Given the description of an element on the screen output the (x, y) to click on. 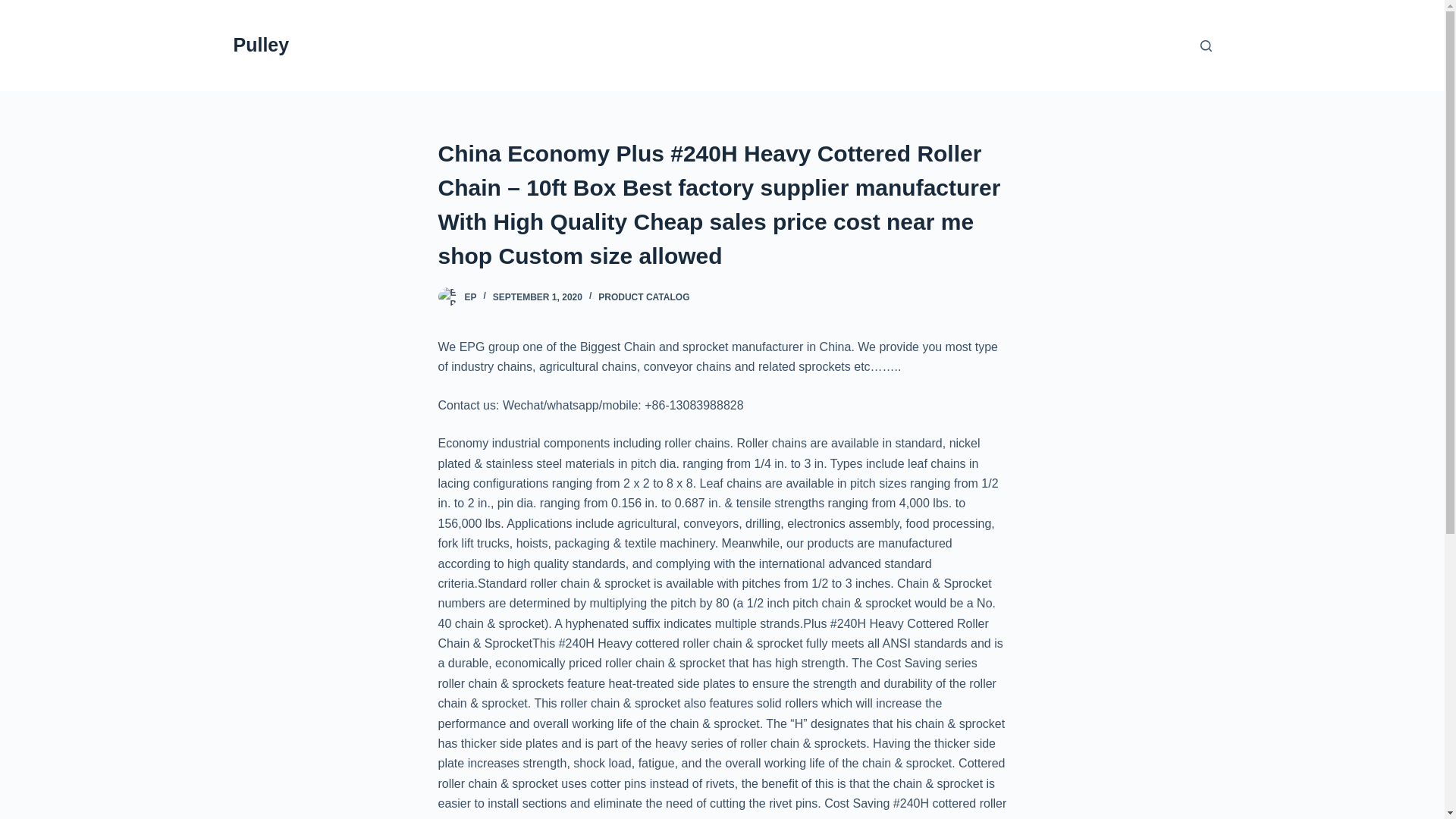
PRODUCT CATALOG (643, 296)
Pulley (260, 44)
Posts by ep (470, 296)
Skip to content (15, 7)
EP (470, 296)
